Given the description of an element on the screen output the (x, y) to click on. 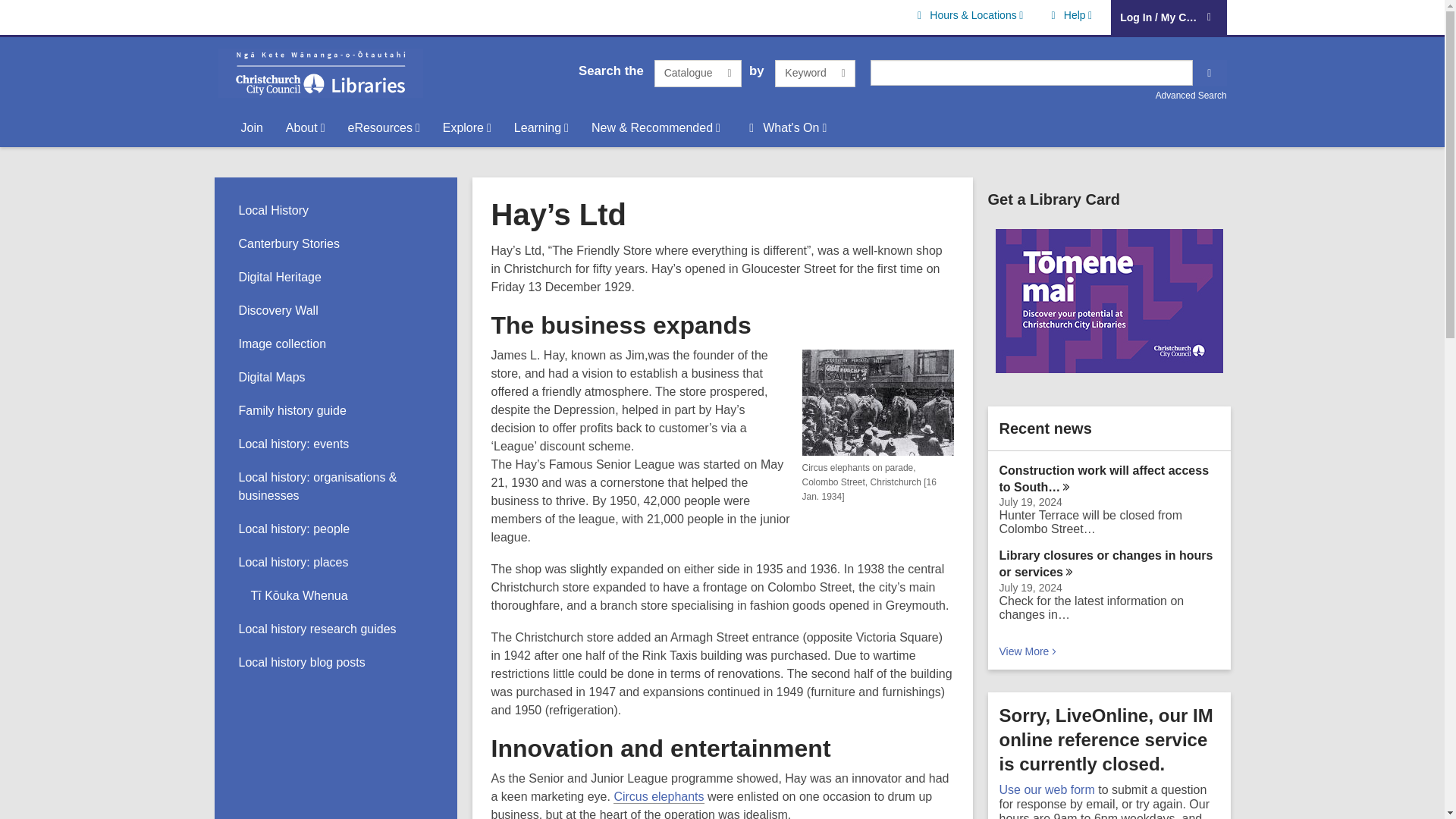
Keyword (815, 72)
Ask a reference question using this form (697, 72)
Family History Resources at Christchurch City Libraries (1046, 789)
Catalogue (292, 410)
